Given the description of an element on the screen output the (x, y) to click on. 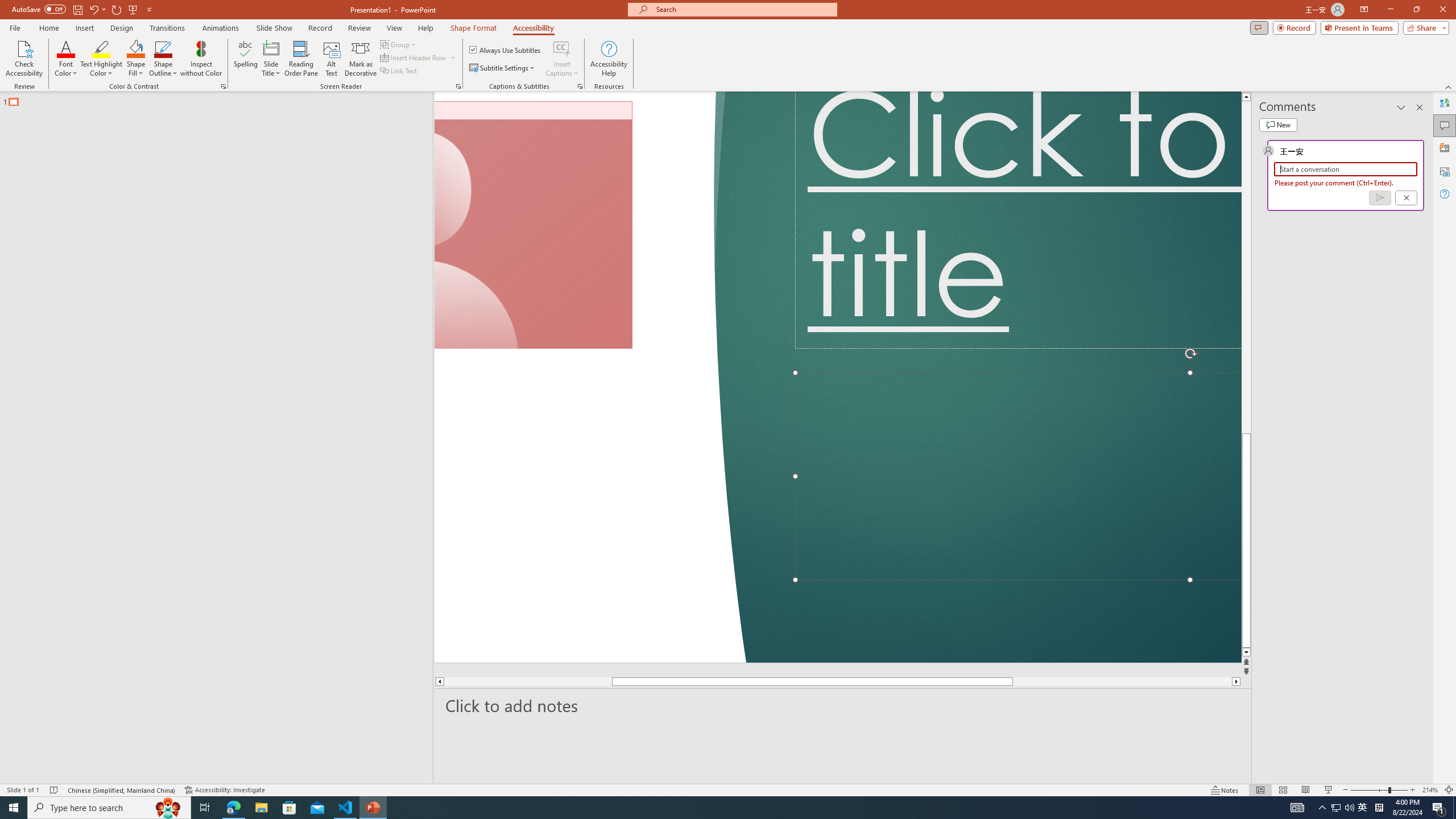
Camera 7, No camera detected. (533, 224)
Page up (1245, 266)
Rectangle (210, 437)
Slide Notes (843, 705)
Link Text (399, 69)
